Given the description of an element on the screen output the (x, y) to click on. 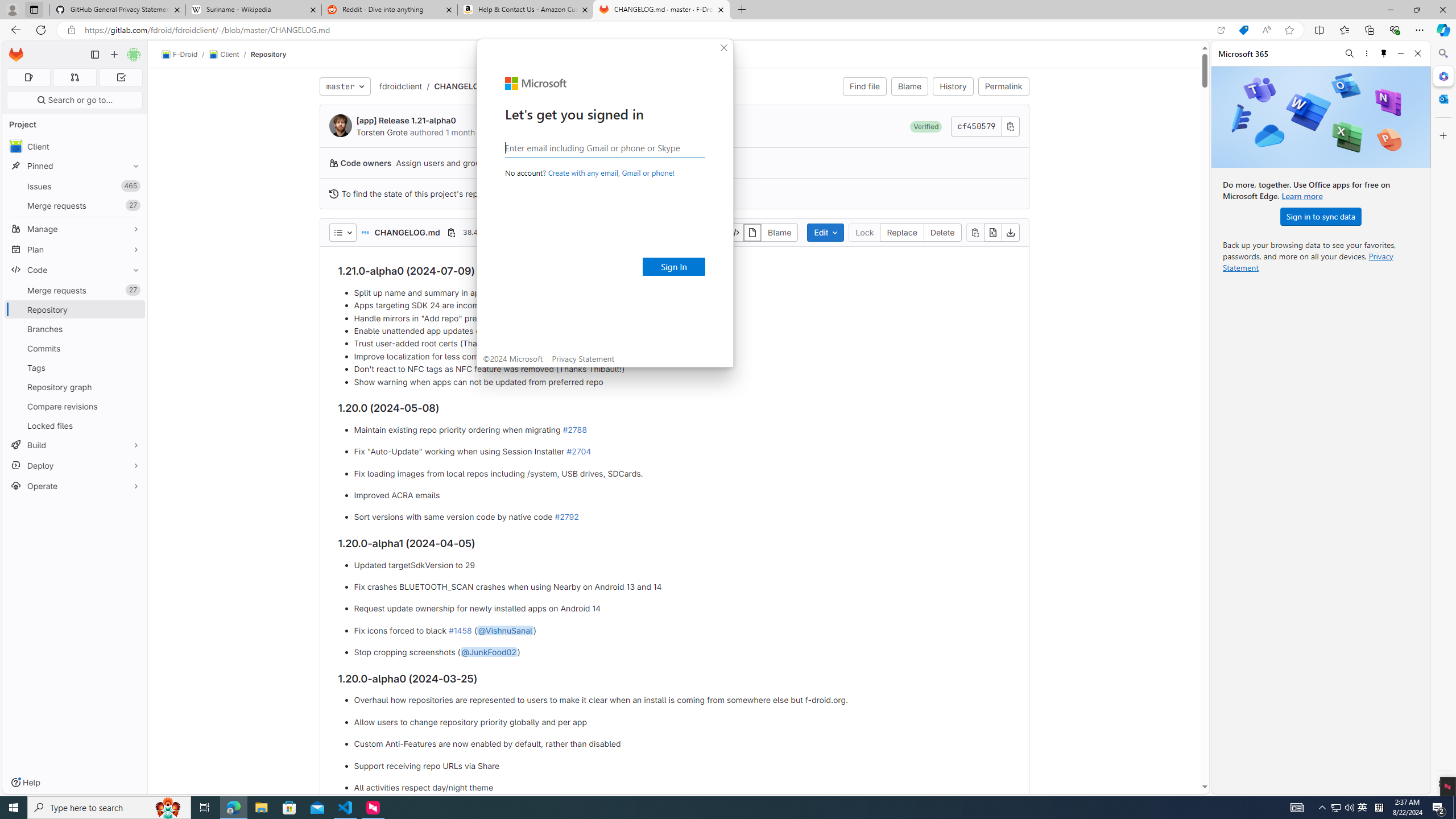
Q2790: 100% (1349, 807)
Client (223, 54)
Merge requests27 (74, 289)
Manage (74, 228)
Start (13, 807)
Fix icons forced to black #1458 (@VishnuSanal) (681, 630)
Notification Chevron (1322, 807)
F-Droid/ (185, 54)
Action Center, 2 new notifications (1439, 807)
Stop cropping screenshots (@JunkFood02) (681, 652)
